Given the description of an element on the screen output the (x, y) to click on. 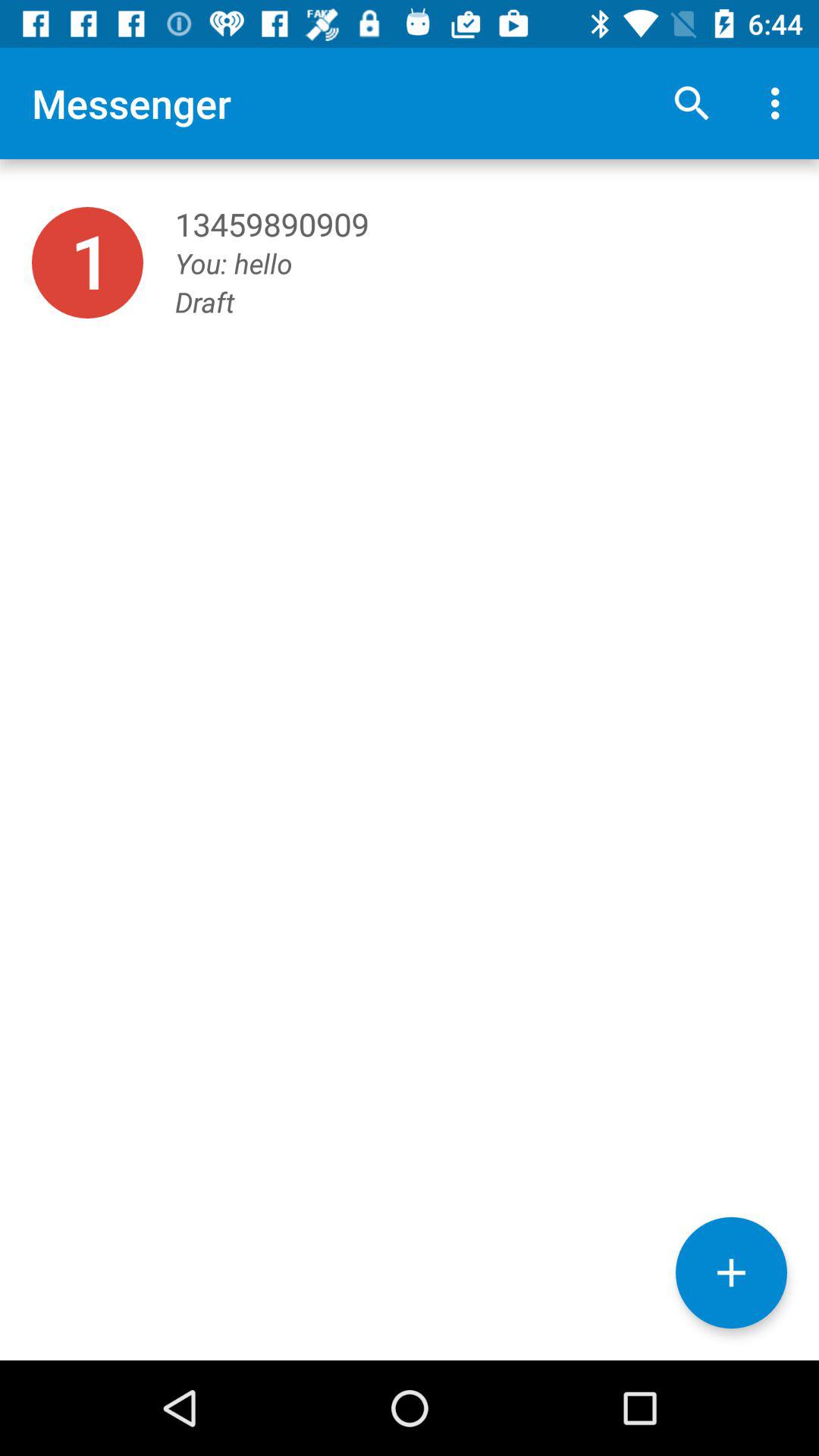
open icon below the you: hello (731, 1272)
